Given the description of an element on the screen output the (x, y) to click on. 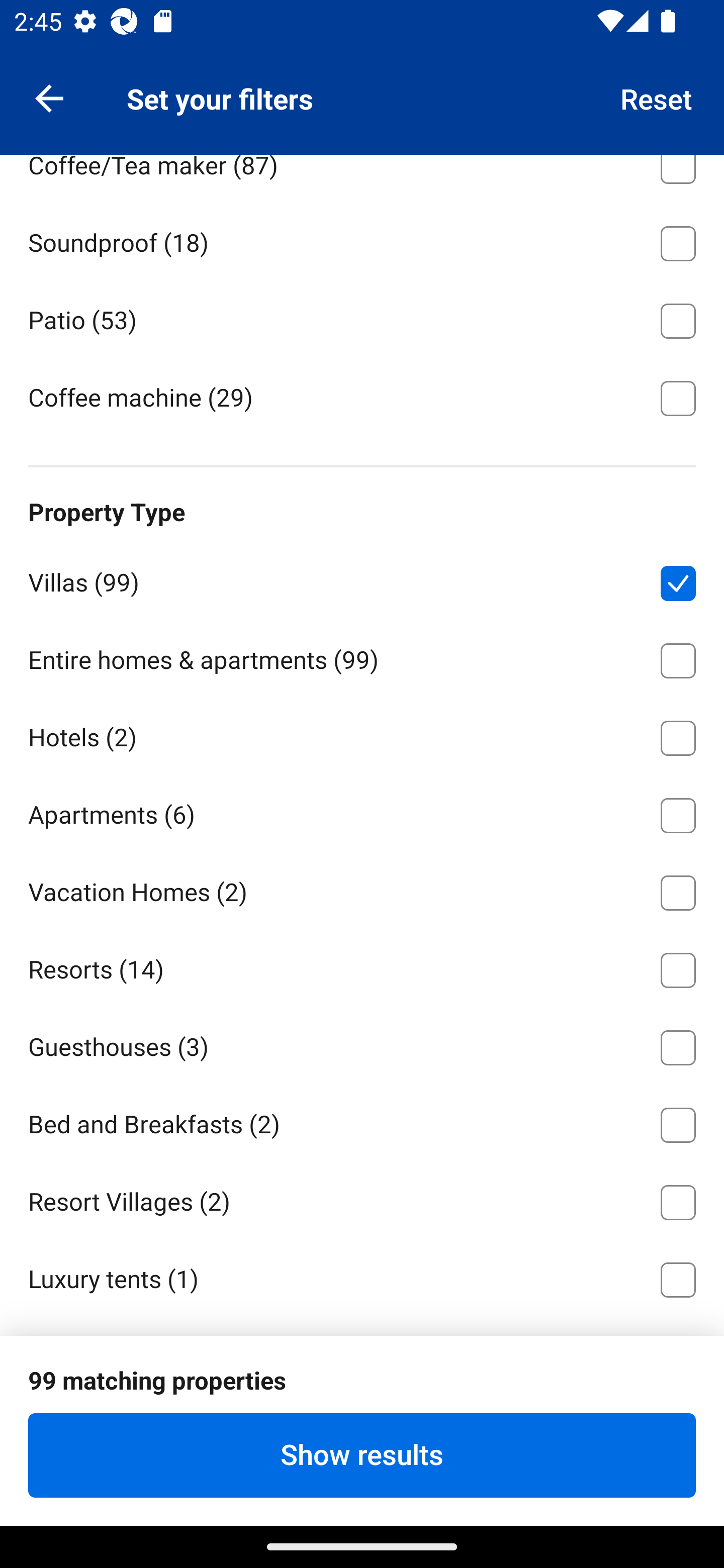
Electric kettle ⁦(71) (361, 85)
Navigate up (49, 97)
Reset (656, 97)
Coffee/Tea maker ⁦(87) (361, 178)
Soundproof ⁦(18) (361, 240)
Patio ⁦(53) (361, 317)
Coffee machine ⁦(29) (361, 396)
Villas ⁦(99) (361, 579)
Entire homes & apartments ⁦(99) (361, 657)
Hotels ⁦(2) (361, 734)
Apartments ⁦(6) (361, 812)
Vacation Homes ⁦(2) (361, 889)
Resorts ⁦(14) (361, 966)
Guesthouses ⁦(3) (361, 1044)
Bed and Breakfasts ⁦(2) (361, 1121)
Resort Villages ⁦(2) (361, 1198)
Luxury tents ⁦(1) (361, 1277)
Show results (361, 1454)
